Given the description of an element on the screen output the (x, y) to click on. 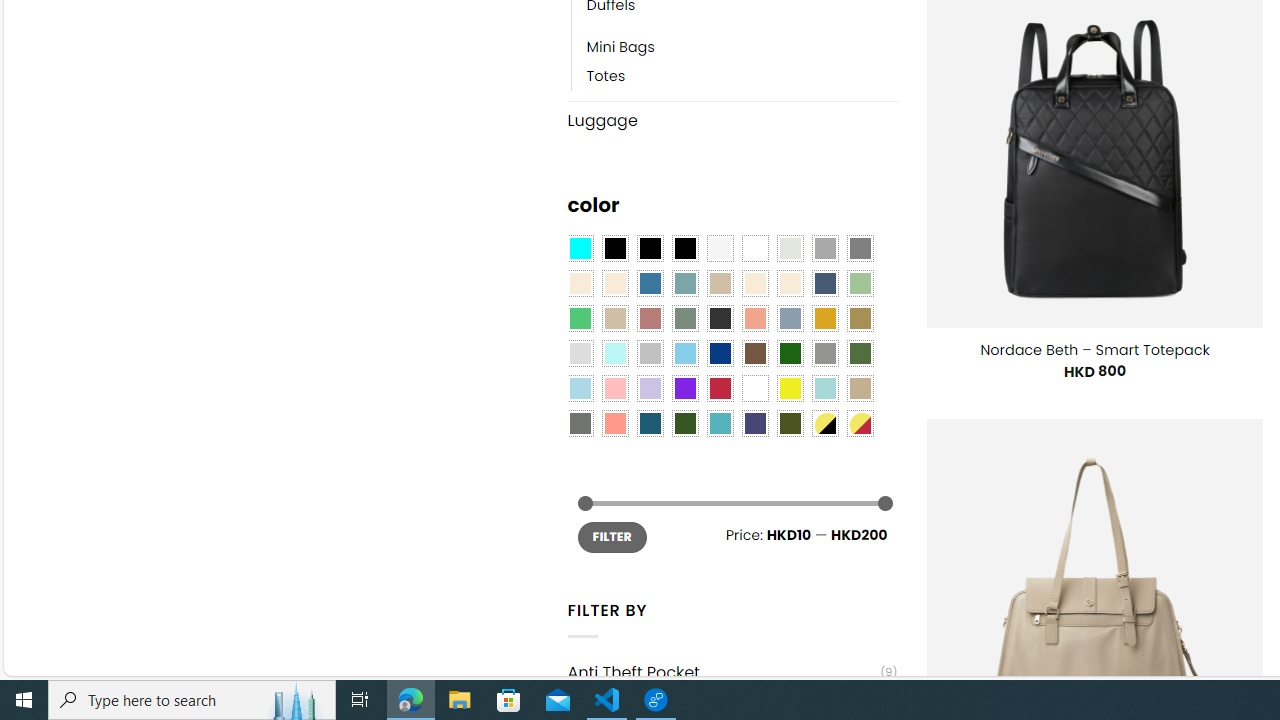
Blue (650, 283)
Silver (650, 354)
Cream (789, 283)
Purple Navy (755, 424)
Beige-Brown (614, 283)
Dark Green (789, 354)
Peach Pink (614, 424)
Totes (605, 76)
Army Green (789, 424)
Capri Blue (650, 424)
Light Purple (650, 388)
Gold (824, 318)
Dark Gray (824, 249)
Mini Bags (620, 48)
Emerald Green (579, 318)
